Given the description of an element on the screen output the (x, y) to click on. 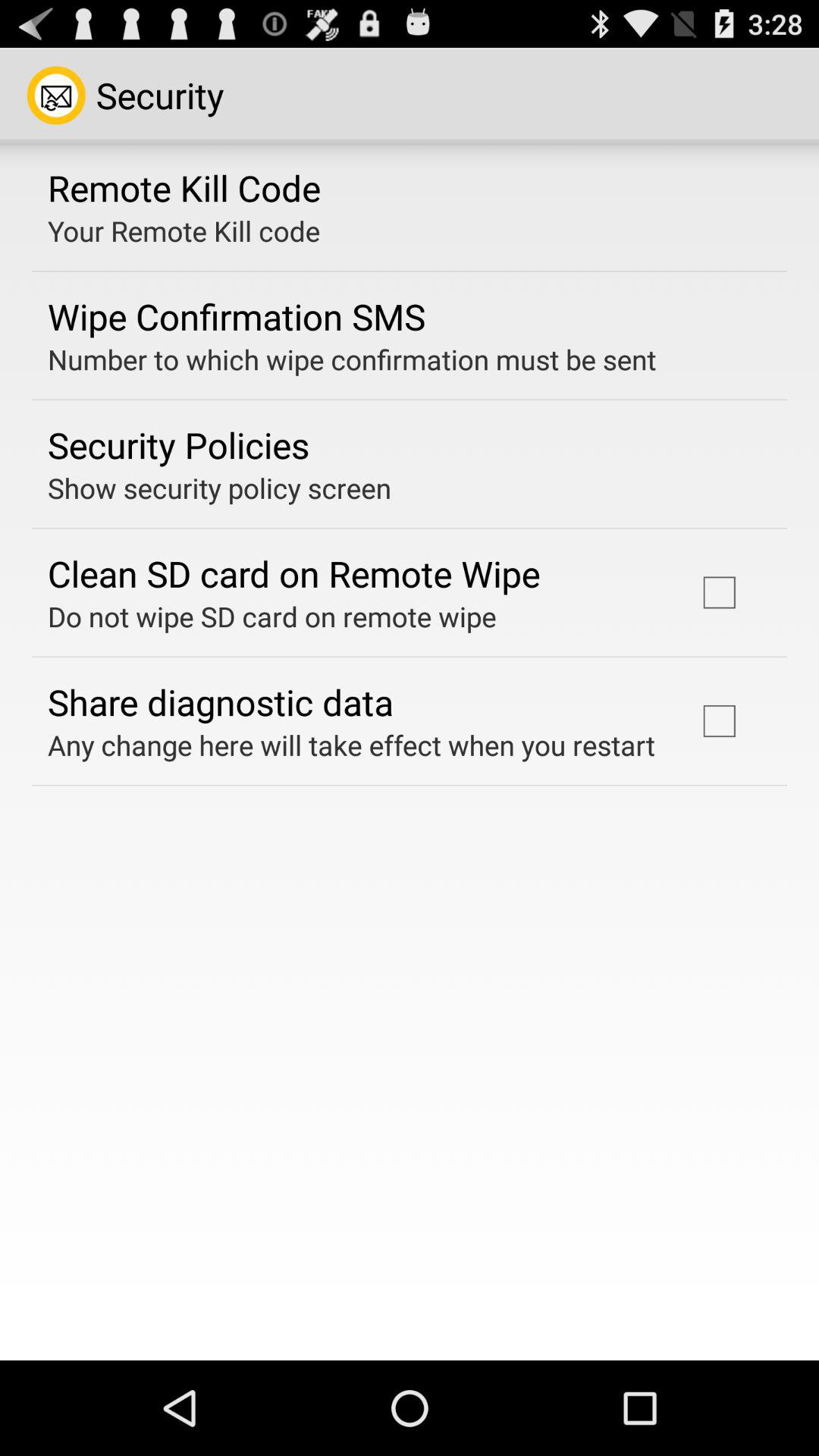
flip until share diagnostic data app (220, 701)
